Given the description of an element on the screen output the (x, y) to click on. 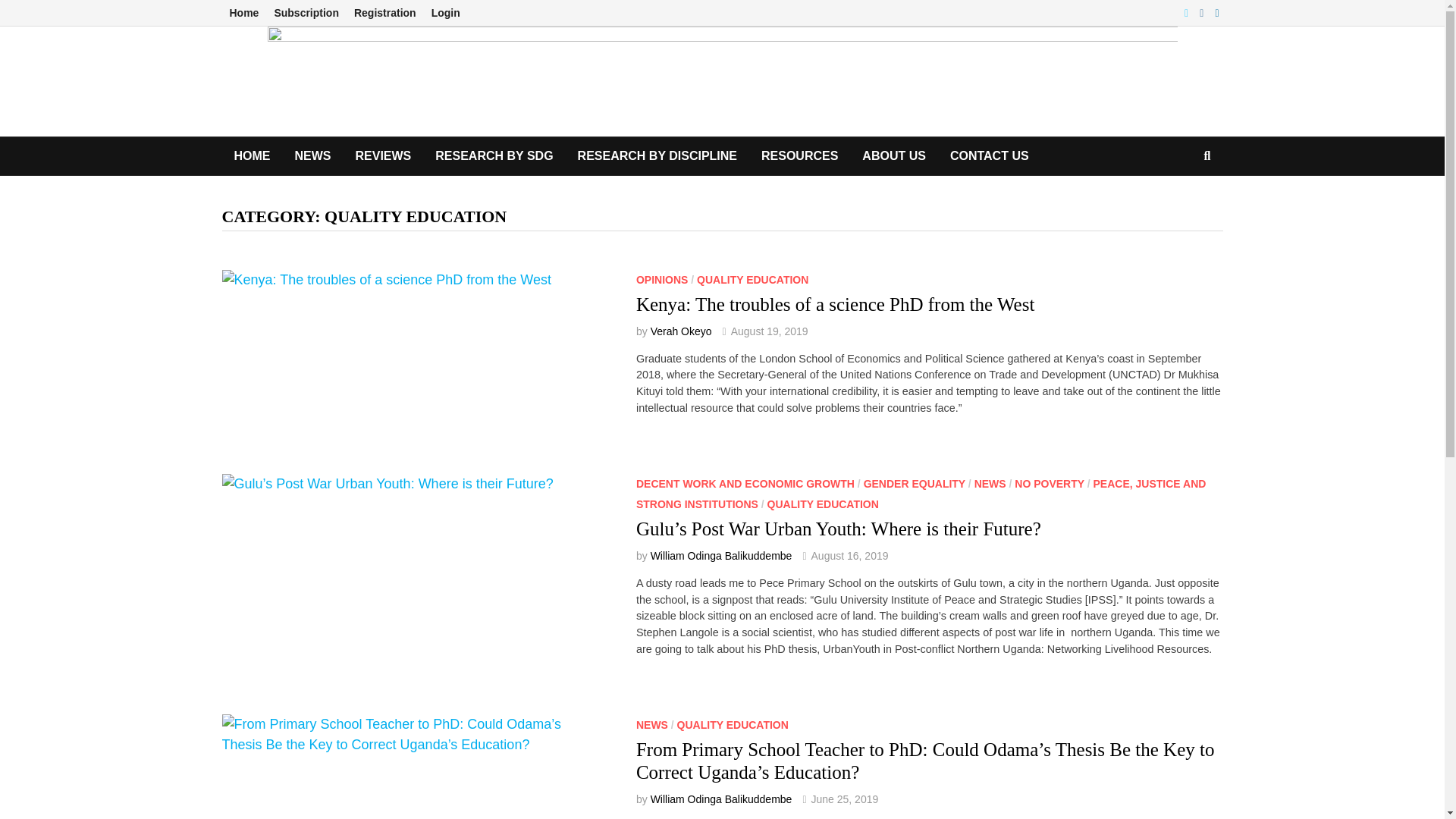
CONTACT US (989, 156)
Home (243, 13)
Registration (384, 13)
QUALITY EDUCATION (752, 279)
HOME (251, 156)
NEWS (312, 156)
RESEARCH BY DISCIPLINE (657, 156)
Verah Okeyo (680, 331)
OPINIONS (661, 279)
RESOURCES (799, 156)
